Given the description of an element on the screen output the (x, y) to click on. 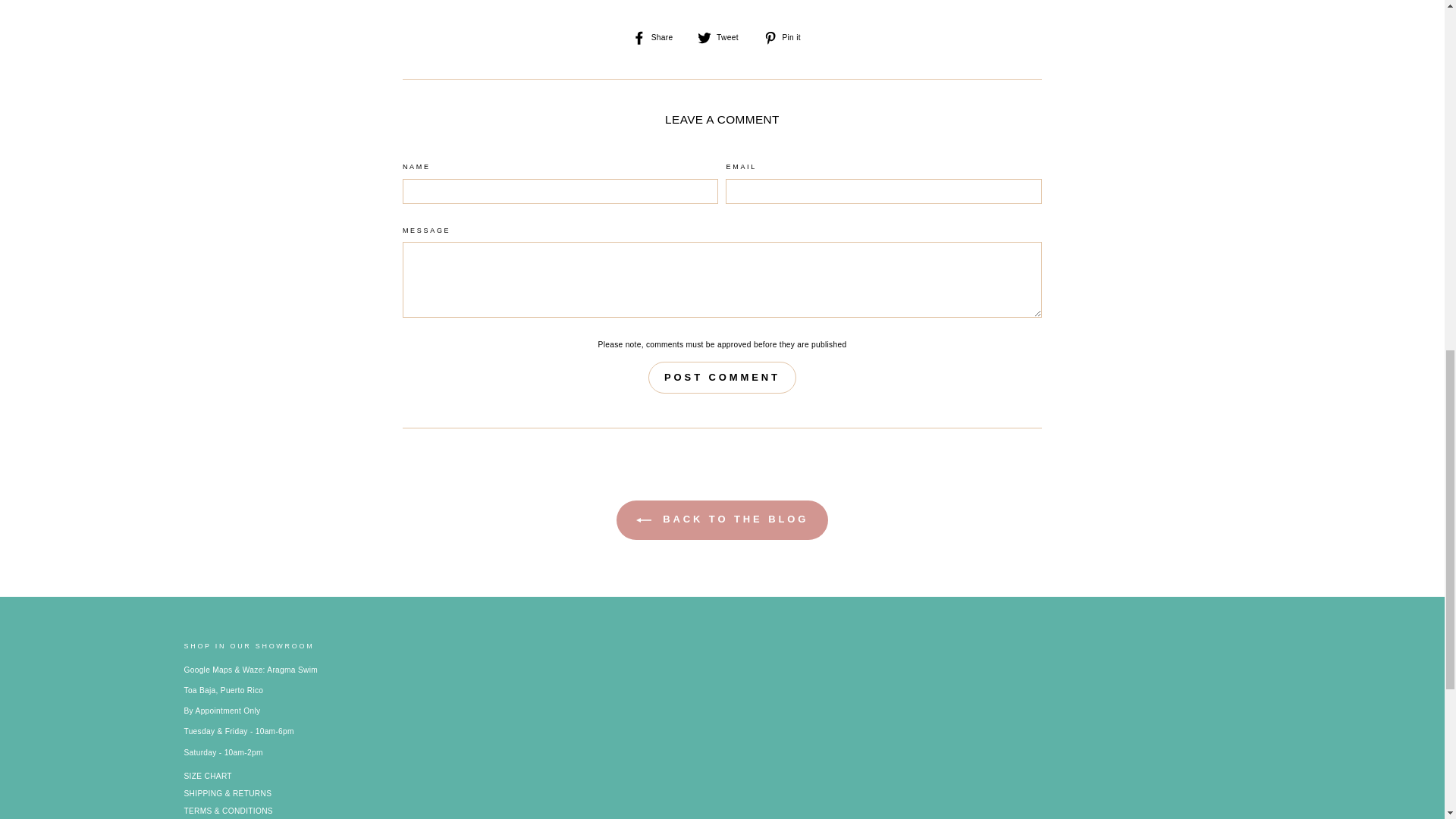
Pin on Pinterest (787, 38)
Share on Facebook (657, 38)
Tweet on Twitter (723, 38)
